Given the description of an element on the screen output the (x, y) to click on. 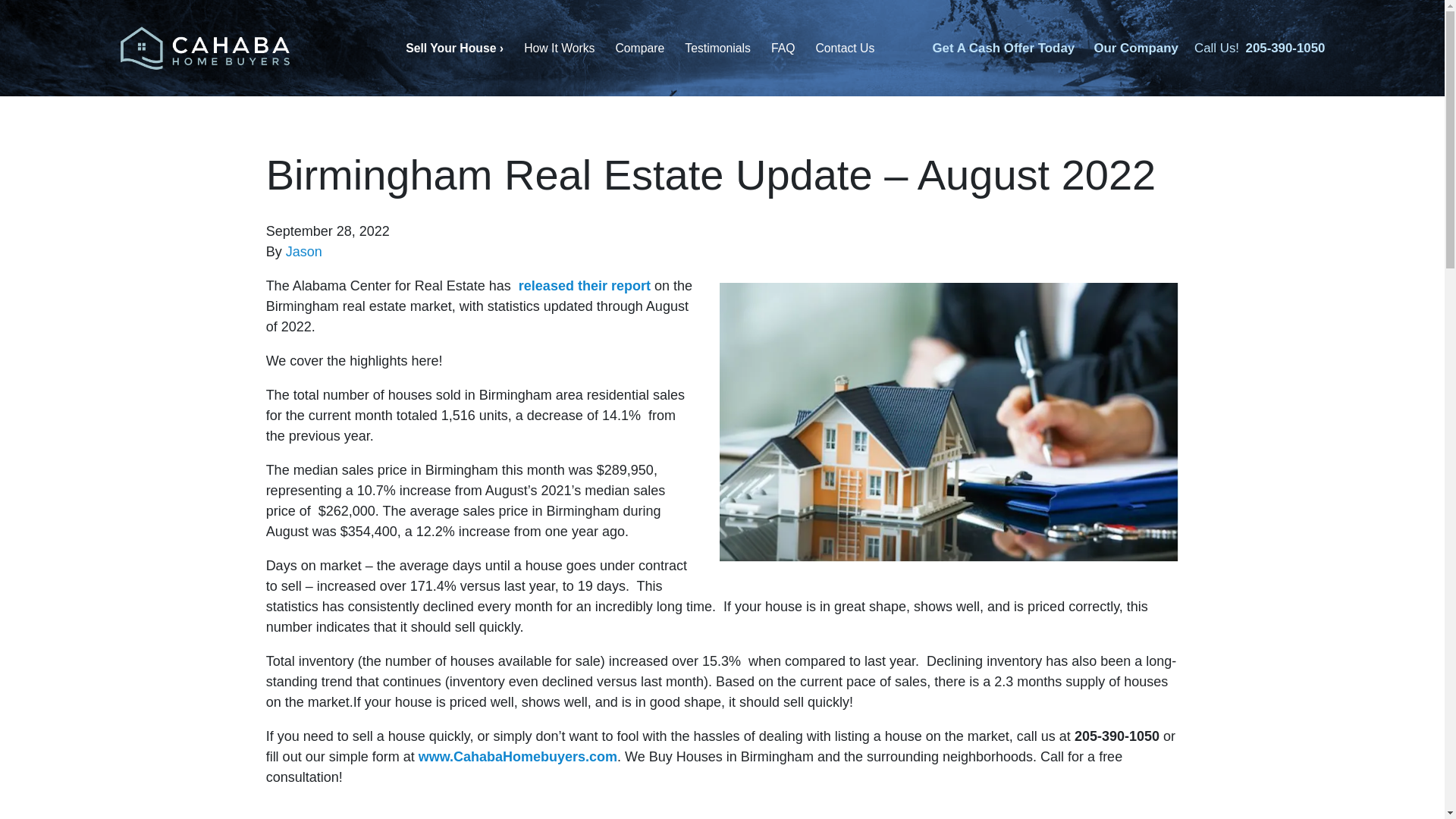
How It Works (559, 48)
www.CahabaHomebuyers.com (518, 756)
released their report (584, 285)
Jason (303, 251)
Our Company (1135, 48)
Compare (640, 48)
Get A Cash Offer Today (1002, 48)
Contact Us (845, 48)
Testimonials (718, 48)
